Given the description of an element on the screen output the (x, y) to click on. 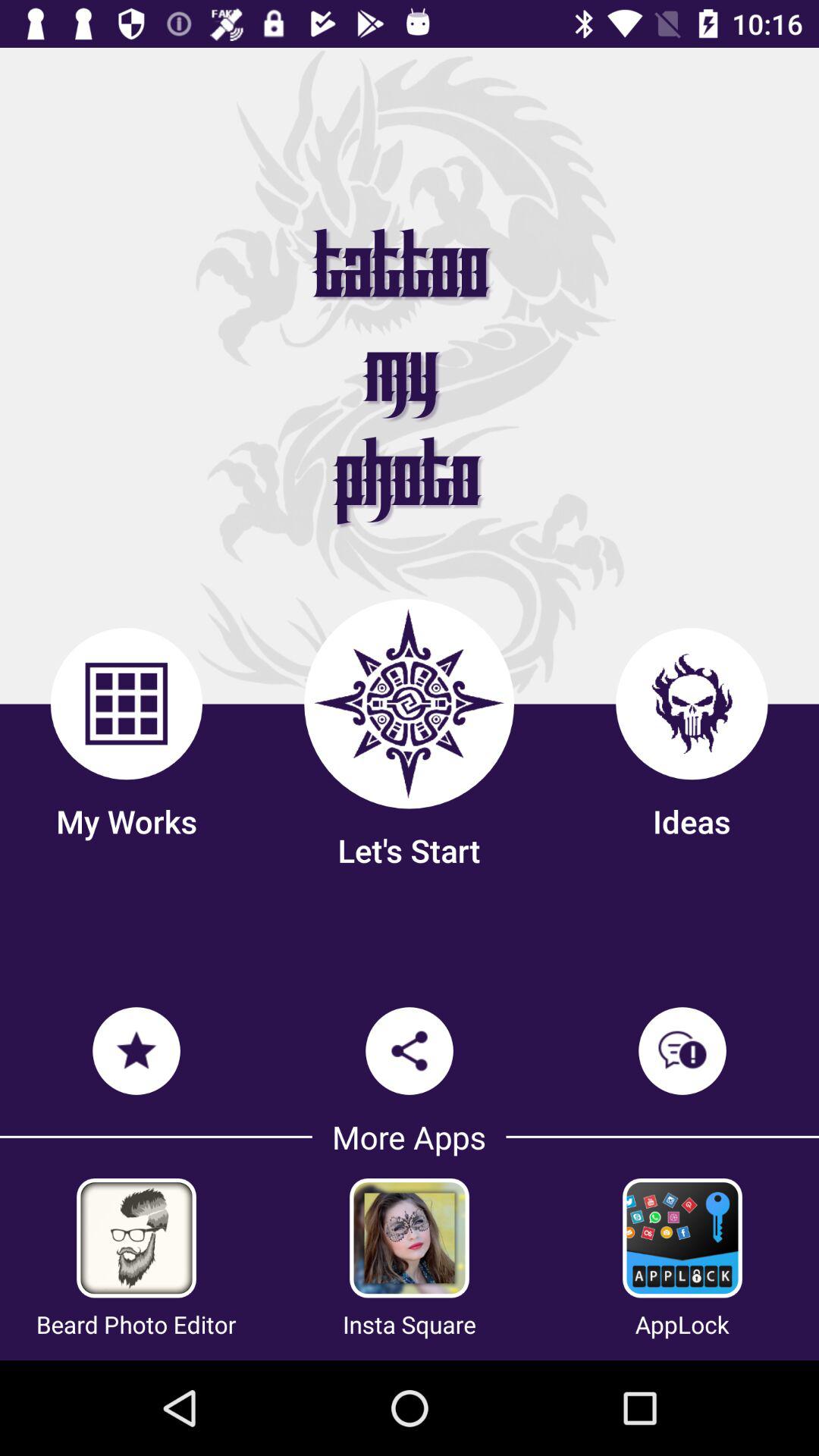
open new app (682, 1237)
